Given the description of an element on the screen output the (x, y) to click on. 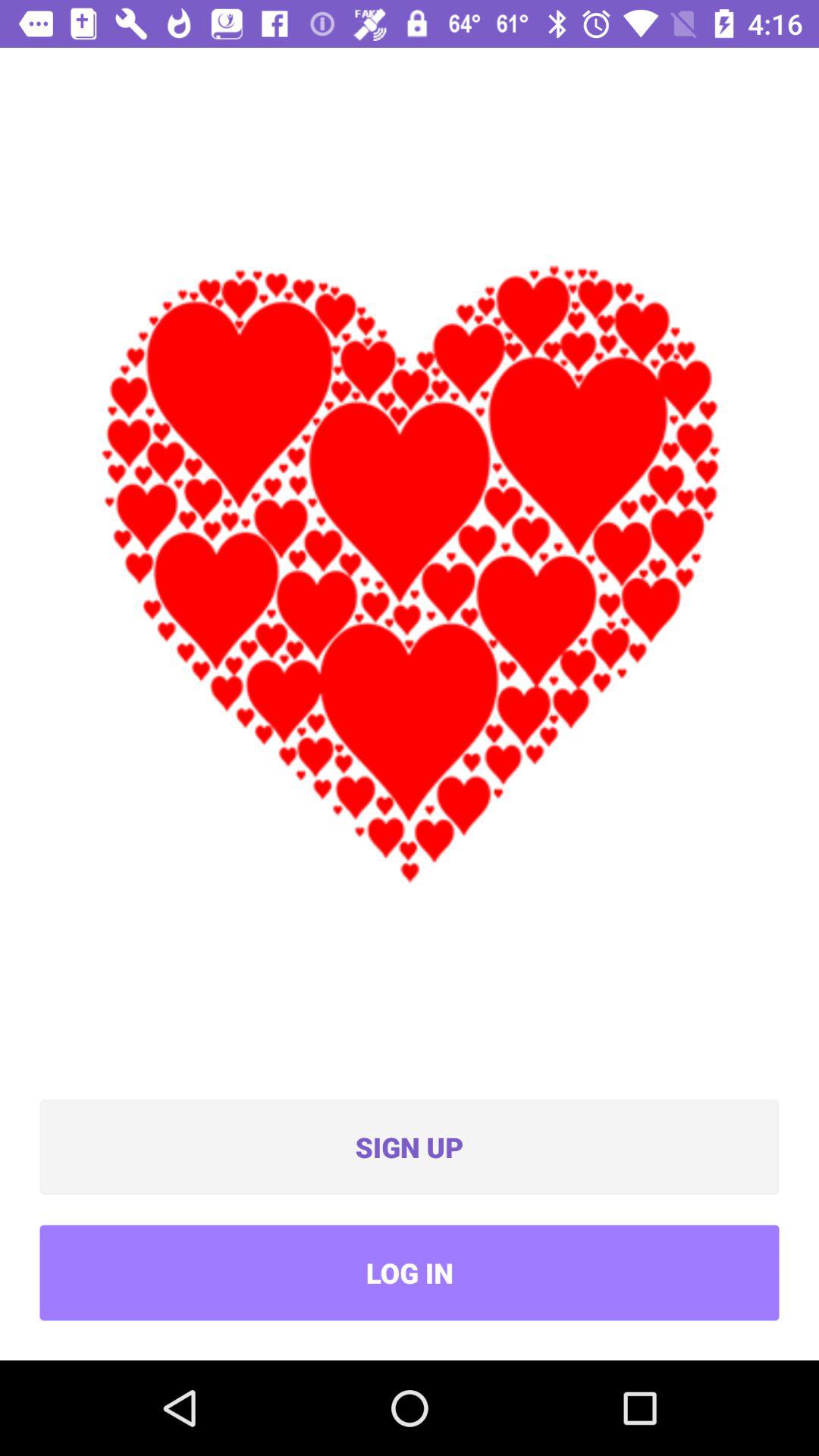
click the sign up item (409, 1146)
